Given the description of an element on the screen output the (x, y) to click on. 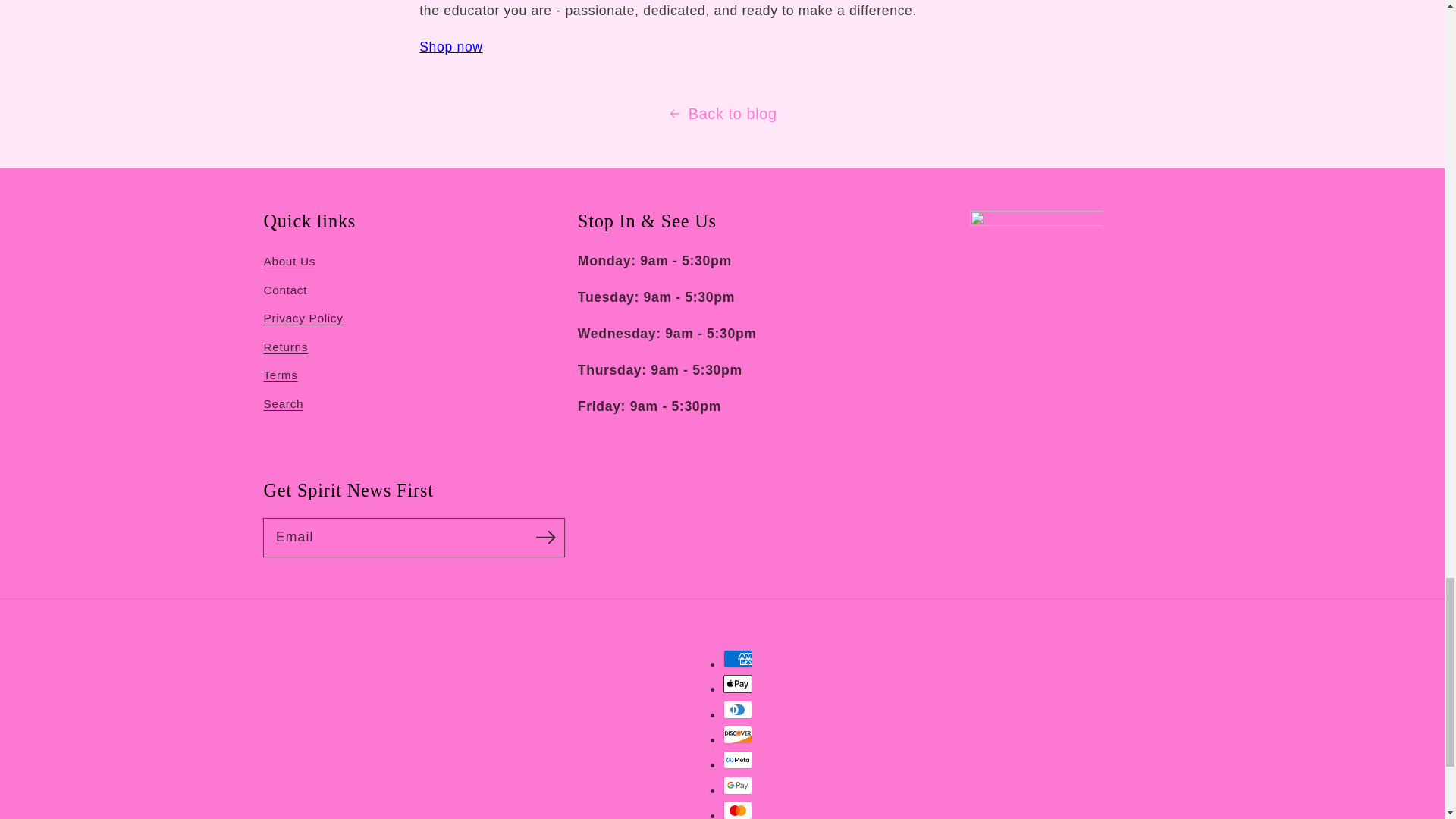
Google Pay (737, 785)
Diners Club (737, 710)
American Express (737, 659)
Apple Pay (737, 683)
Meta Pay (737, 760)
Discover (737, 734)
Mastercard (737, 810)
